Given the description of an element on the screen output the (x, y) to click on. 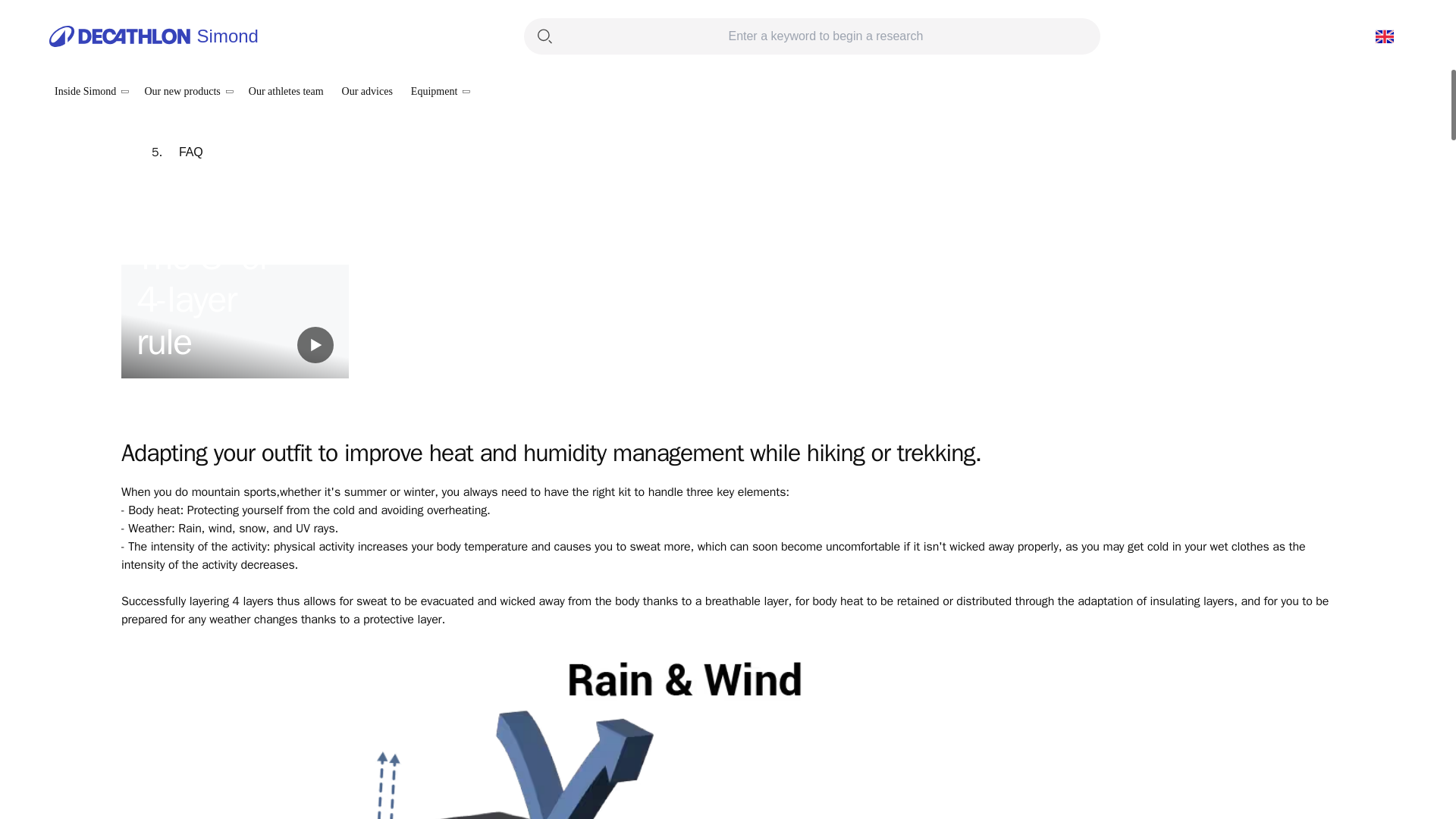
FAQ (191, 152)
Understanding the role of each layer (274, 61)
The key principles of heat and humidity management (318, 15)
